Given the description of an element on the screen output the (x, y) to click on. 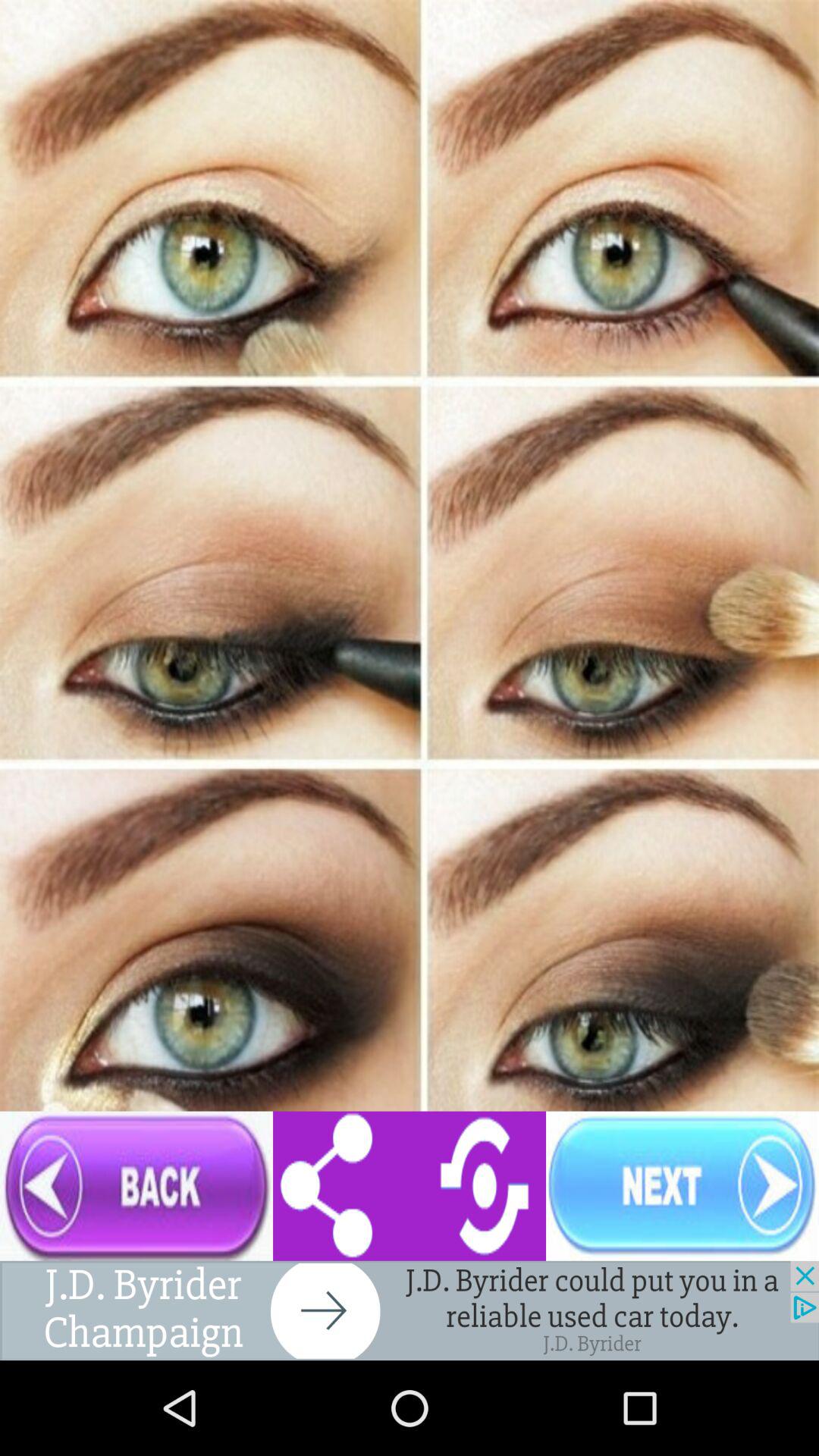
settings go-back icon (409, 1185)
